Given the description of an element on the screen output the (x, y) to click on. 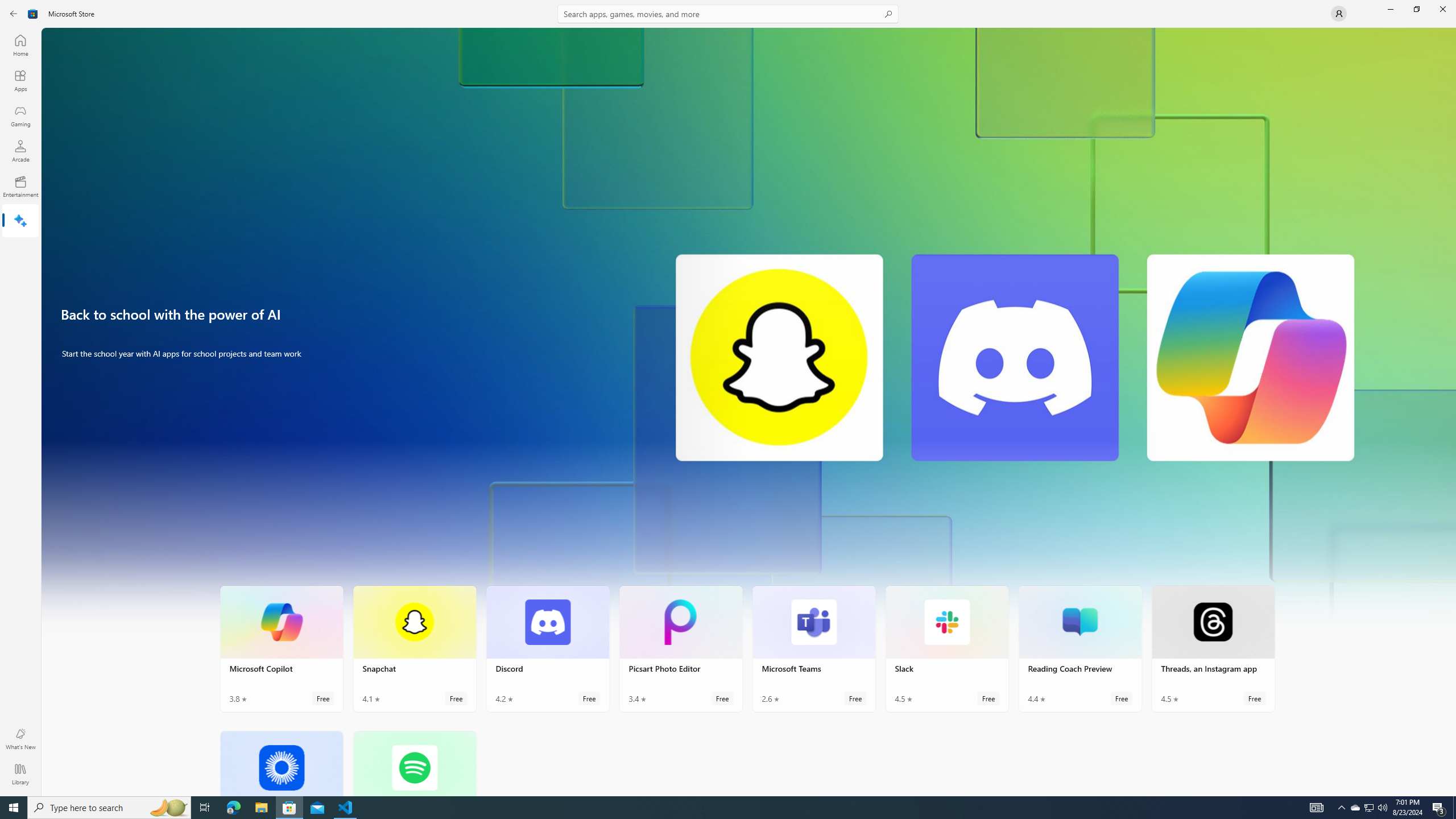
Search (727, 13)
Back (13, 13)
AutomationID: HeroImage (749, 337)
AutomationID: HeroOverlayImage (749, 337)
Slack. Average rating of 4.5 out of five stars. Free   (947, 648)
Discord. Average rating of 4.2 out of five stars. Free   (548, 648)
